Given the description of an element on the screen output the (x, y) to click on. 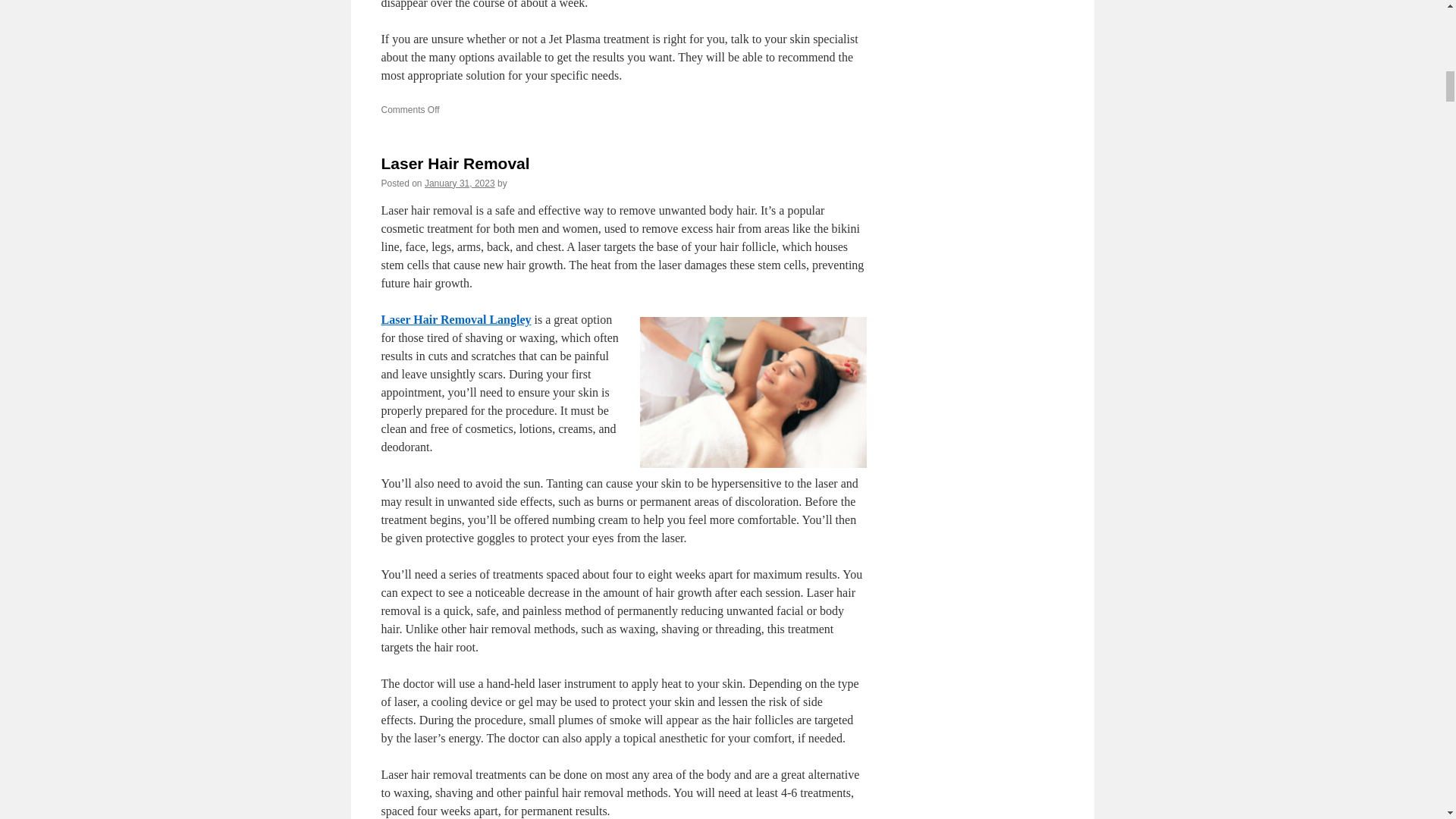
January 31, 2023 (460, 183)
Laser Hair Removal Langley (455, 318)
Laser Hair Removal (454, 162)
8:19 am (460, 183)
